Given the description of an element on the screen output the (x, y) to click on. 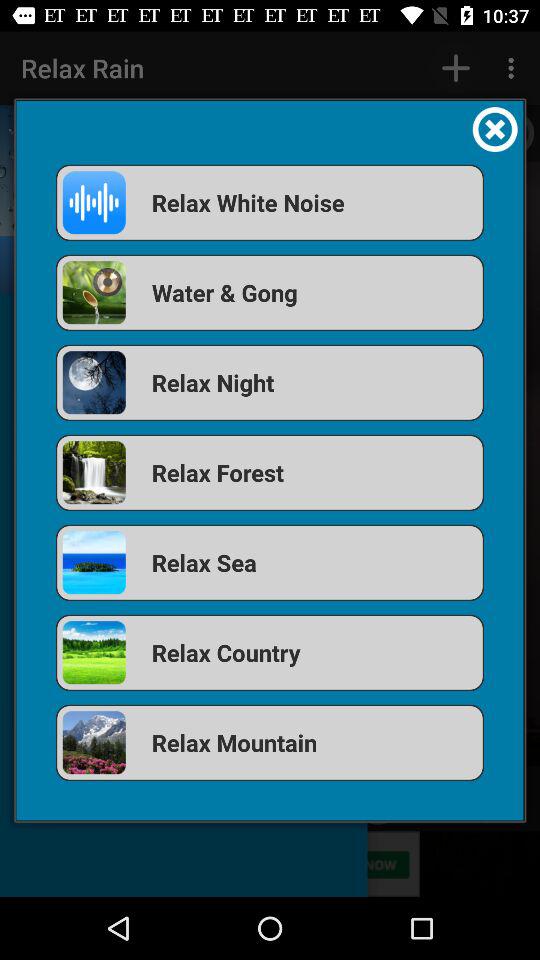
press the app below the relax sea (269, 652)
